Given the description of an element on the screen output the (x, y) to click on. 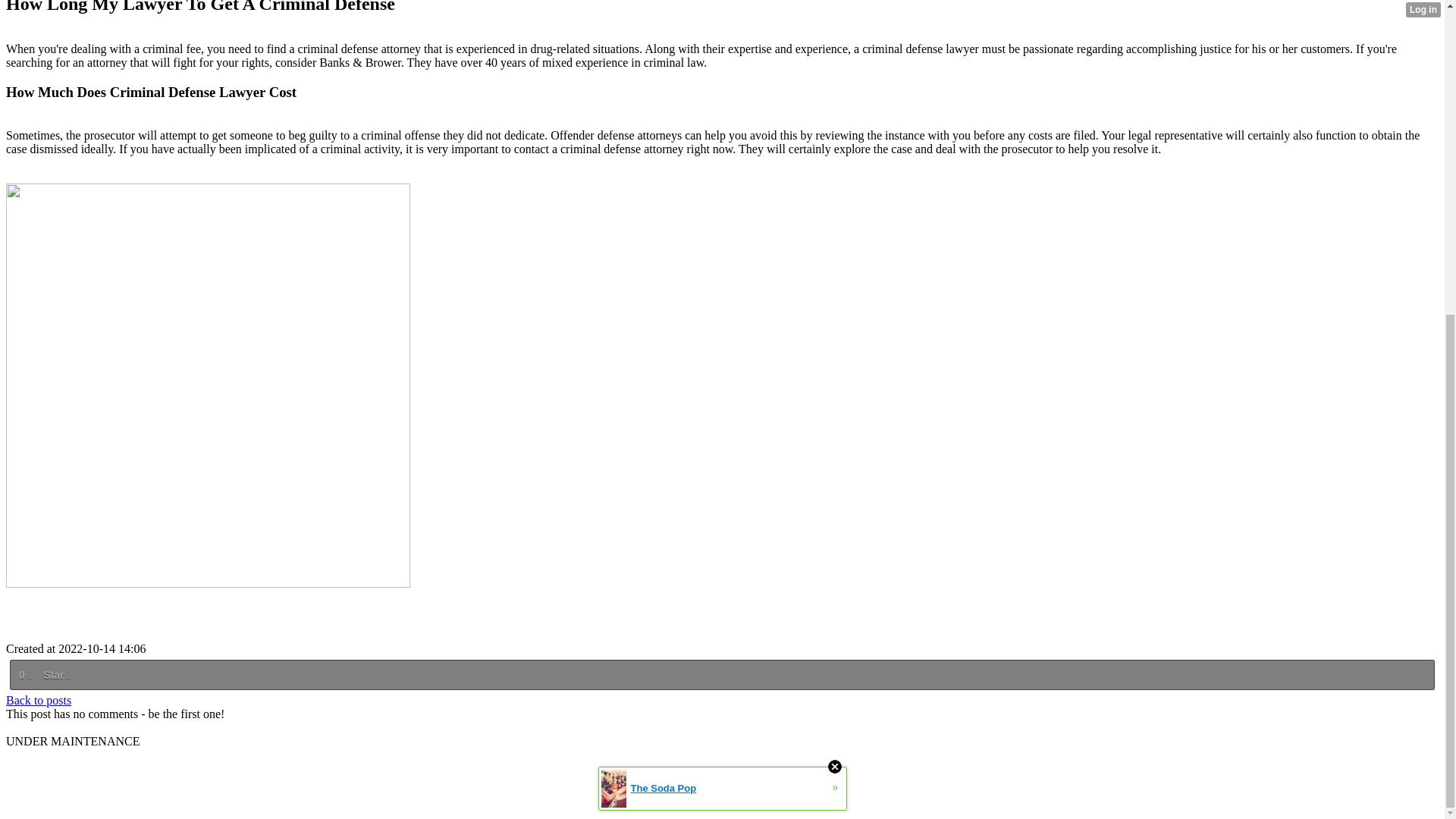
Back to posts (38, 699)
Star (56, 674)
0 (24, 674)
